Given the description of an element on the screen output the (x, y) to click on. 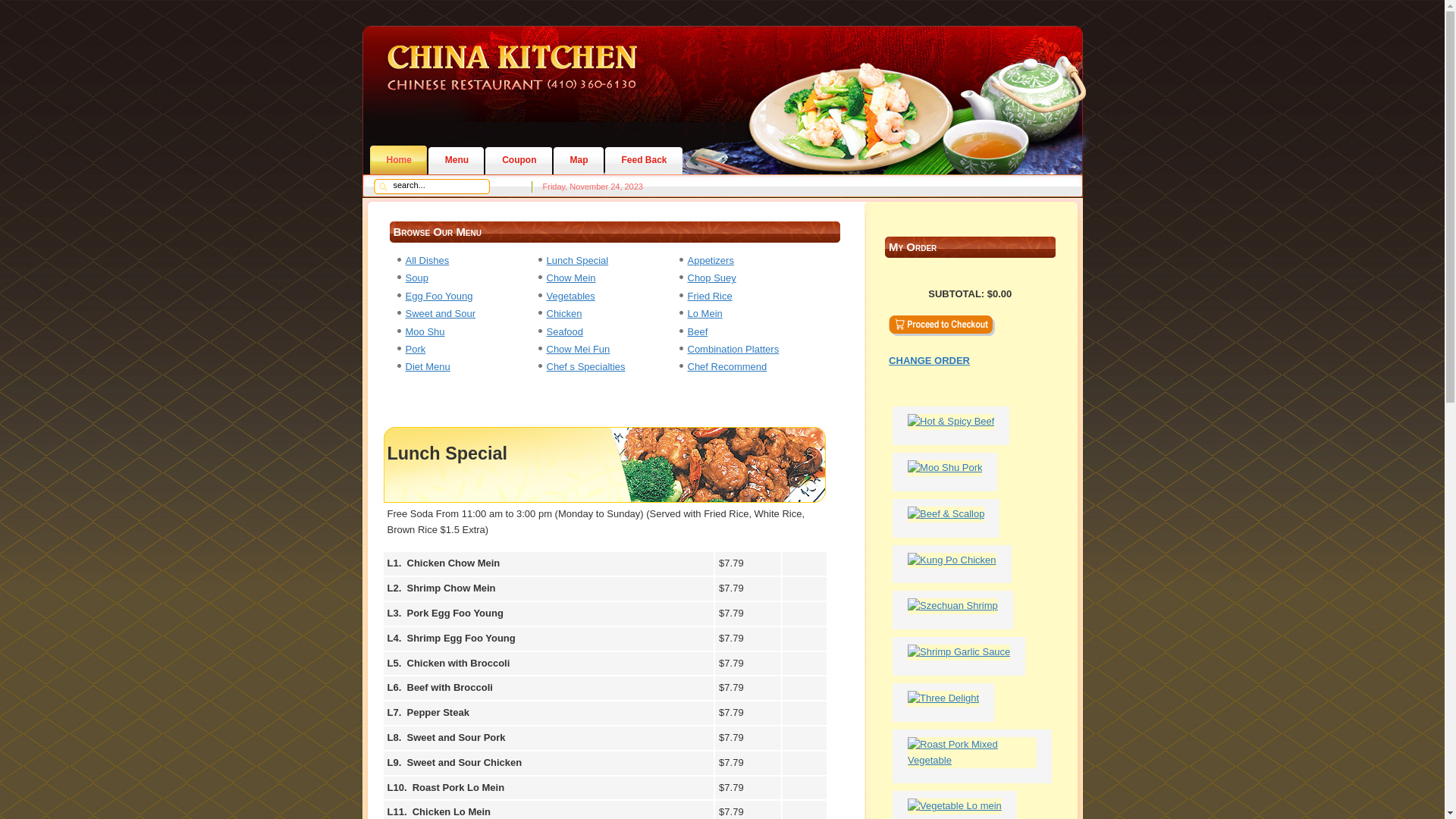
Lunch Special Element type: text (577, 260)
Feed Back Element type: text (643, 159)
Moo Shu Element type: text (424, 331)
Menu Element type: text (455, 159)
Beef Element type: text (697, 331)
Chow Mein Element type: text (570, 277)
Soup Element type: text (415, 277)
Szechuan Shrimp Element type: hover (956, 605)
Shrimp Garlic Sauce Element type: hover (962, 651)
Friday, November 24, 2023 Element type: text (592, 186)
Diet Menu Element type: text (426, 366)
Coupon Element type: text (518, 159)
All Dishes Element type: text (426, 260)
Vegetables Element type: text (570, 295)
Chef Recommend Element type: text (726, 366)
Kung Po Chicken Element type: hover (955, 559)
Sweet and Sour Element type: text (439, 313)
Fried Rice Element type: text (709, 295)
Egg Foo Young Element type: text (438, 295)
Chicken Element type: text (563, 313)
Chow Mei Fun Element type: text (577, 348)
Three Delight Element type: hover (946, 697)
Appetizers Element type: text (710, 260)
Hot & Spicy Beef Element type: hover (954, 420)
Map Element type: text (578, 159)
Chop Suey Element type: text (711, 277)
Moo Shu Pork Element type: hover (948, 467)
Roast Pork Mixed Vegetable Element type: hover (975, 759)
Beef & Scallop Element type: hover (949, 513)
Pork Element type: text (414, 348)
CHANGE ORDER Element type: text (969, 372)
Combination Platters Element type: text (732, 348)
Home Element type: text (398, 159)
Chef s Specialties Element type: text (585, 366)
Seafood Element type: text (564, 331)
Lo Mein Element type: text (704, 313)
